Given the description of an element on the screen output the (x, y) to click on. 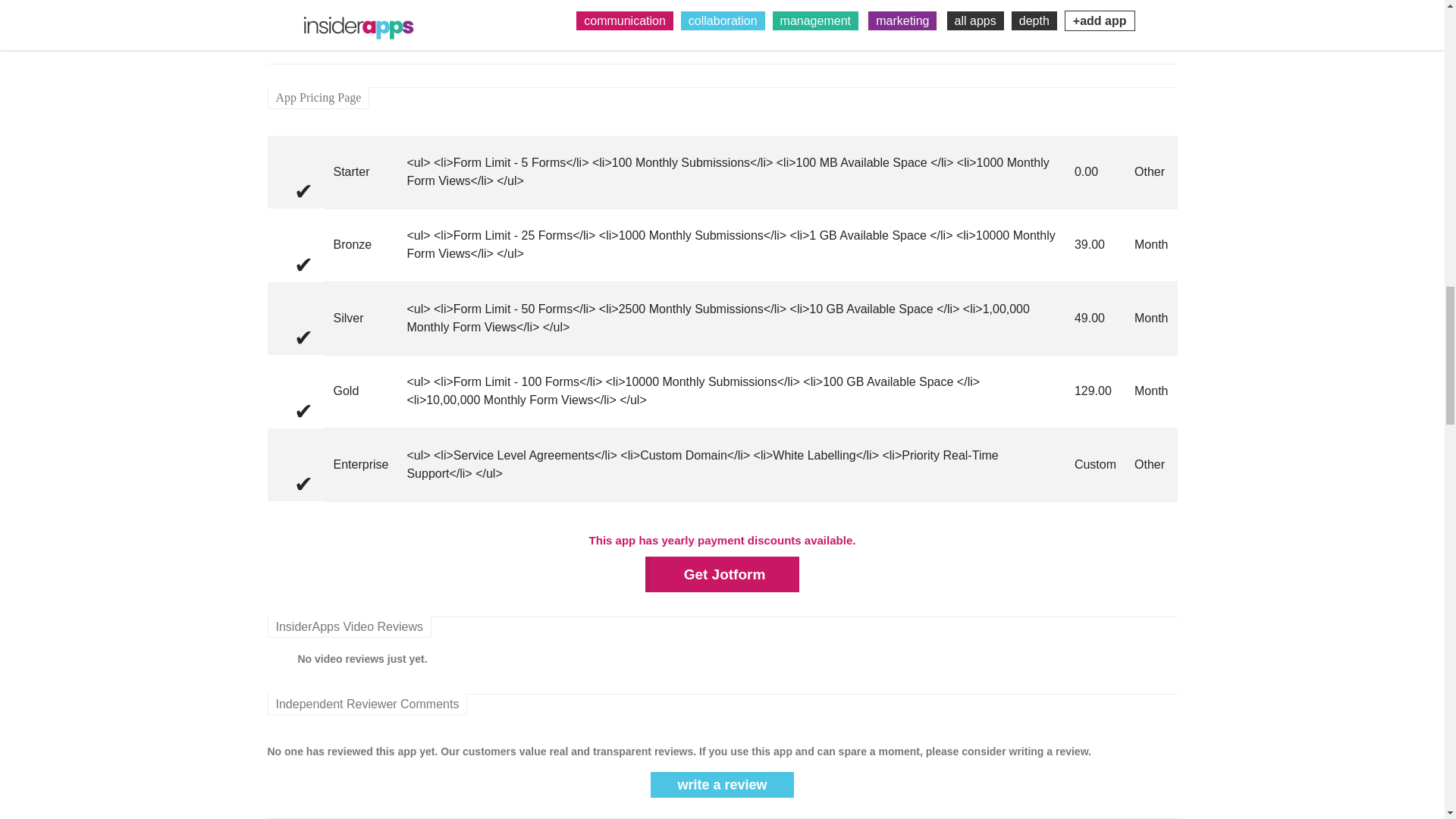
write a review (721, 784)
Get Jotform (722, 574)
